Given the description of an element on the screen output the (x, y) to click on. 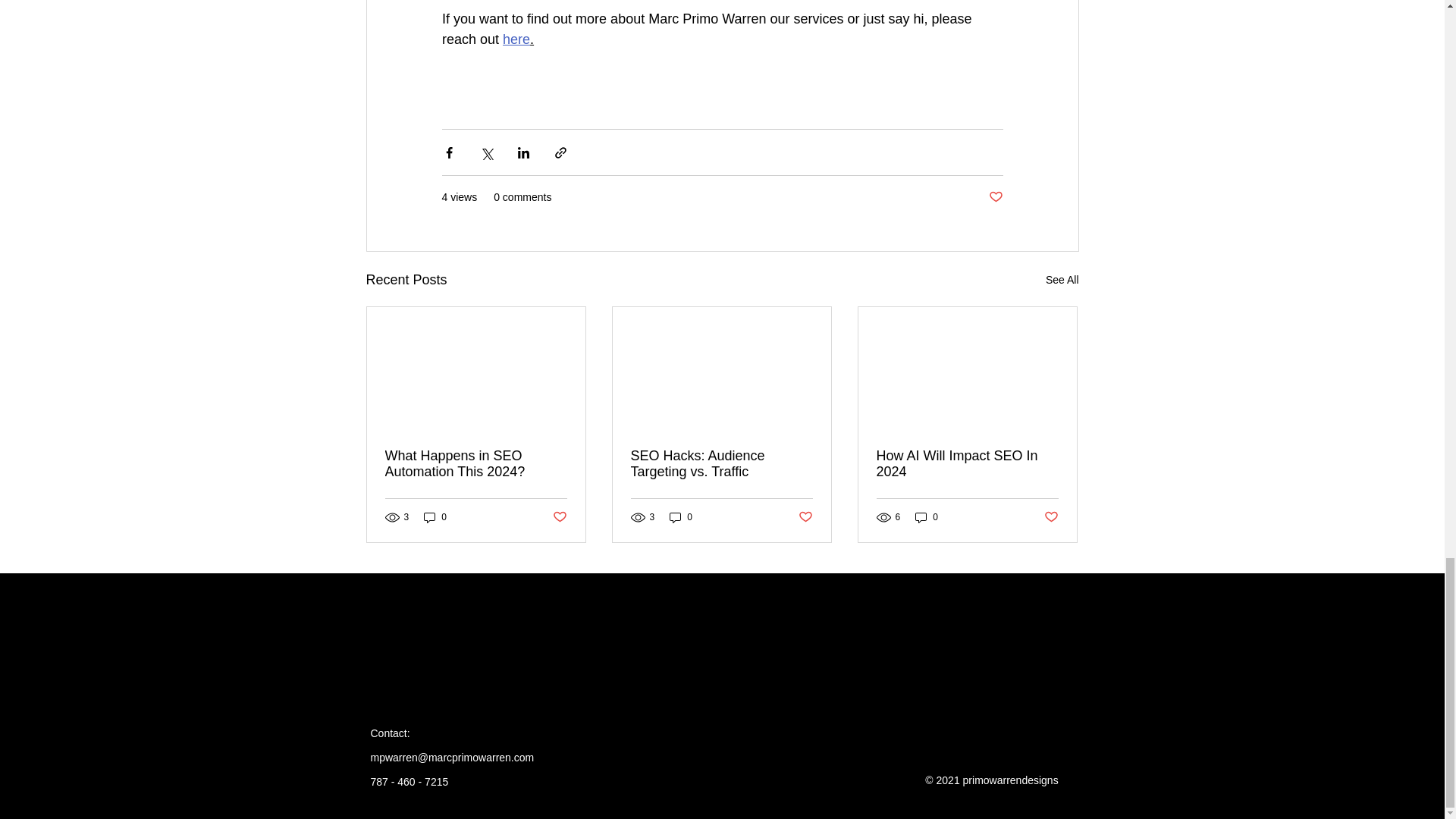
How AI Will Impact SEO In 2024 (967, 463)
Post not marked as liked (804, 517)
SEO Hacks: Audience Targeting vs. Traffic (721, 463)
See All (1061, 280)
Post not marked as liked (995, 197)
here (515, 38)
What Happens in SEO Automation This 2024? (476, 463)
0 (926, 516)
Post not marked as liked (1050, 517)
0 (435, 516)
Post not marked as liked (558, 517)
0 (681, 516)
